Given the description of an element on the screen output the (x, y) to click on. 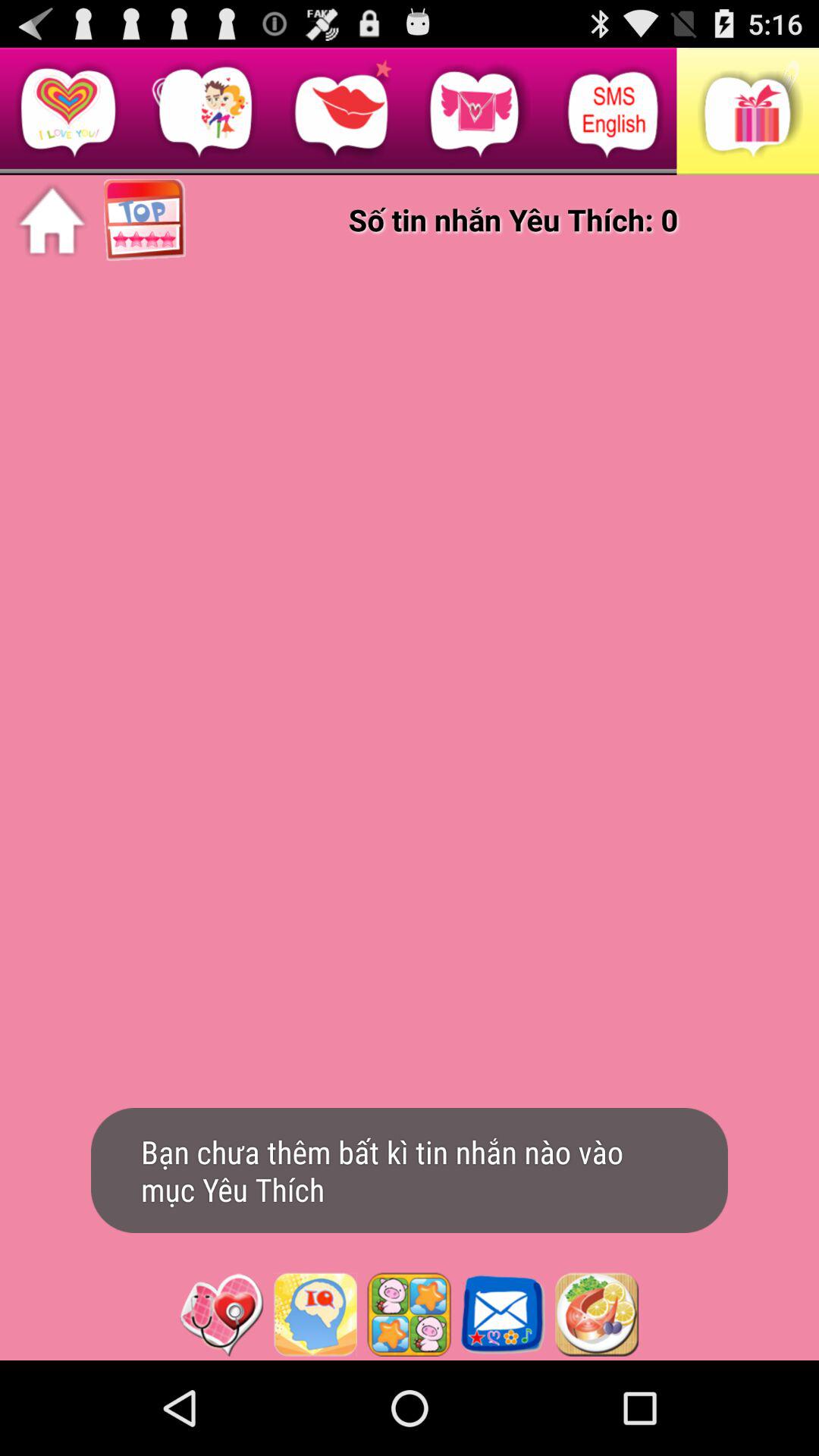
launch iq test (315, 1314)
